Given the description of an element on the screen output the (x, y) to click on. 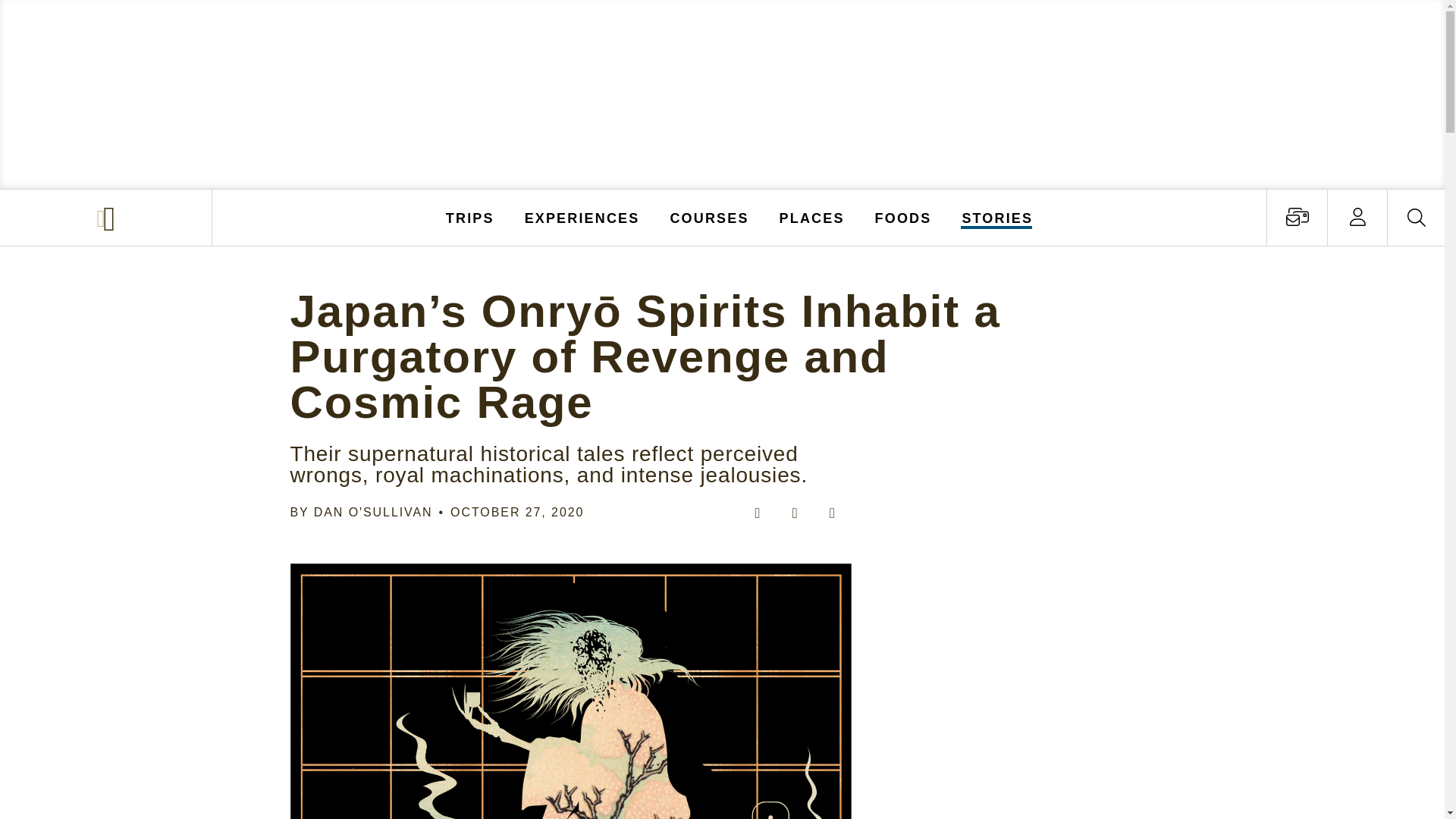
PLACES (812, 217)
EXPERIENCES (582, 217)
COURSES (707, 217)
TRIPS (469, 217)
